Given the description of an element on the screen output the (x, y) to click on. 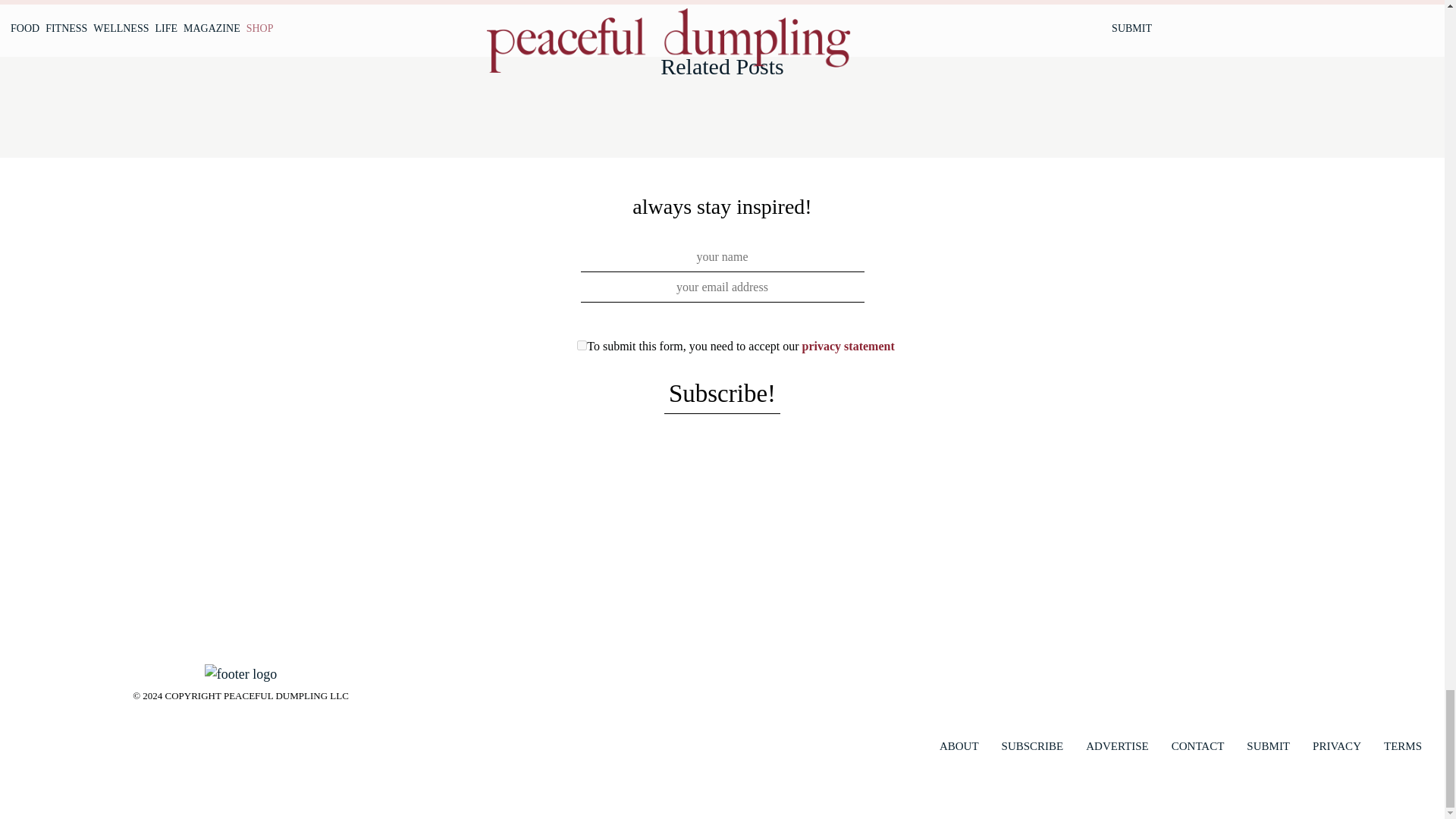
Peaceful Dumpling (240, 672)
Subscribe! (721, 394)
1 (581, 345)
